Given the description of an element on the screen output the (x, y) to click on. 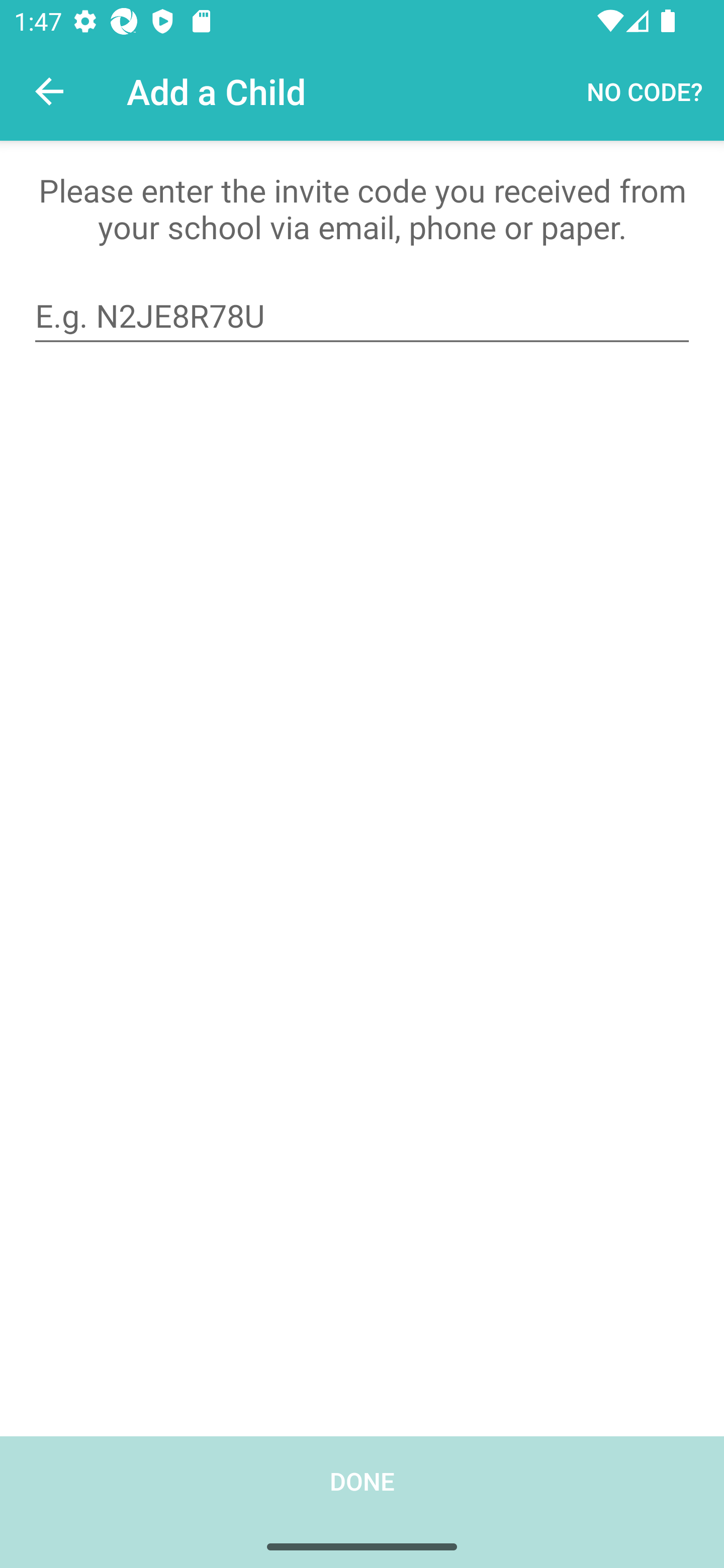
Navigate up (49, 91)
NO CODE? (644, 90)
E.g. N2JE8R78U (361, 315)
DONE (362, 1502)
